Given the description of an element on the screen output the (x, y) to click on. 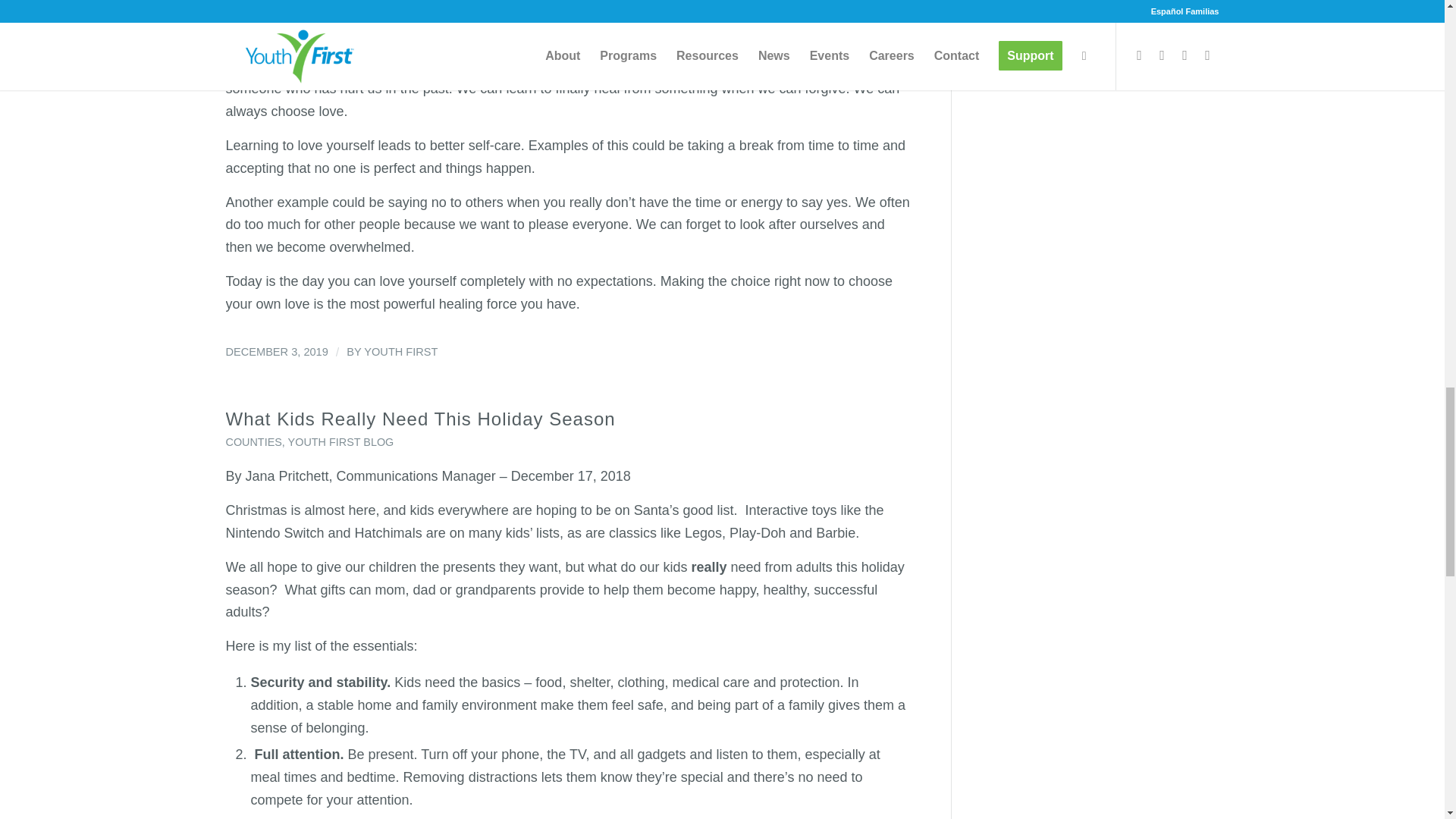
Permanent Link: What Kids Really Need This Holiday Season (420, 418)
Posts by Youth First (401, 351)
